Given the description of an element on the screen output the (x, y) to click on. 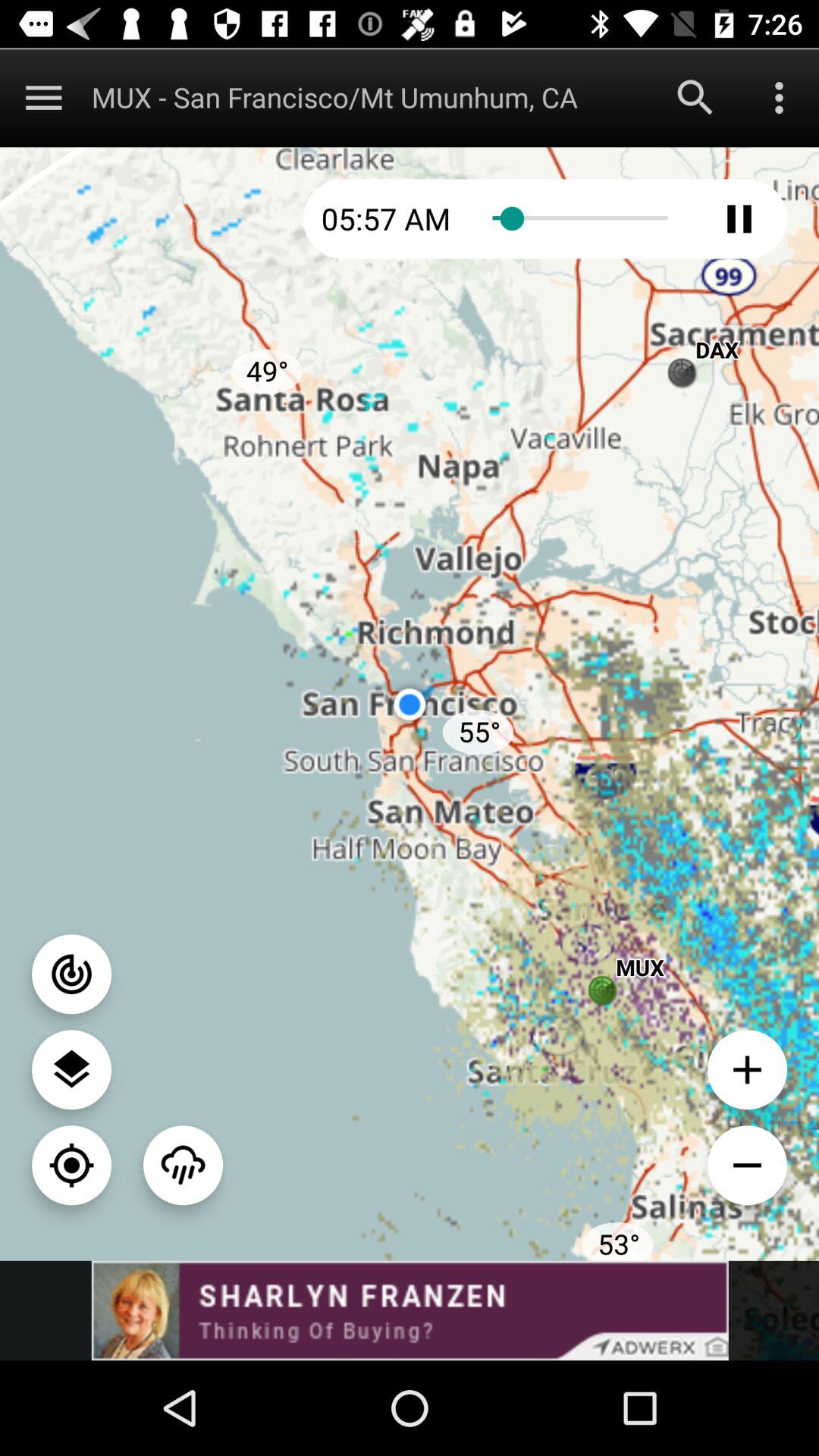
banner advertisement (409, 1310)
